Given the description of an element on the screen output the (x, y) to click on. 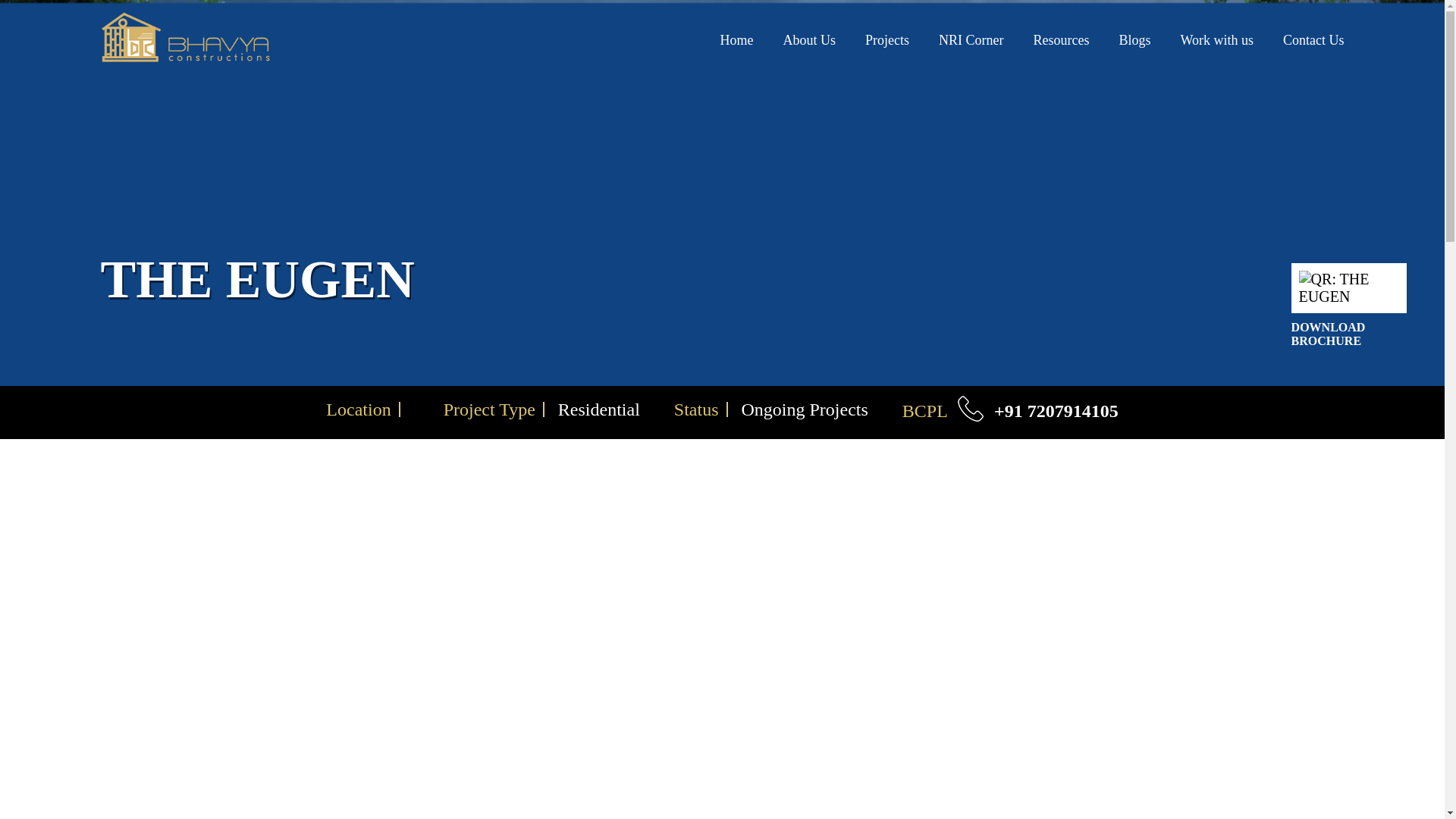
Projects (886, 39)
Contact Us (1312, 39)
Work with us (1216, 39)
About Us (809, 39)
Home (735, 39)
Blogs (1134, 39)
NRI Corner (971, 39)
Resources (1060, 39)
